Given the description of an element on the screen output the (x, y) to click on. 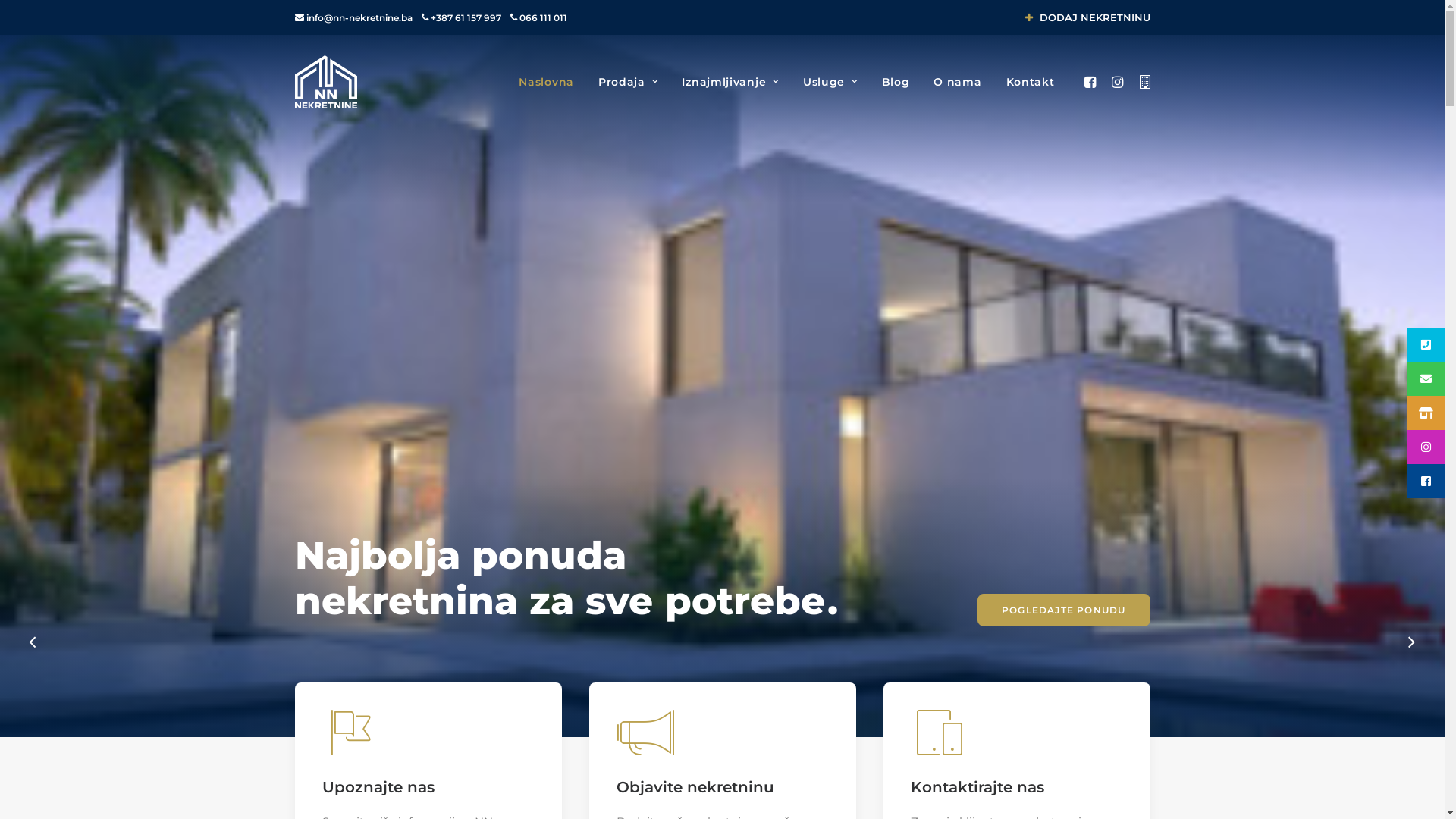
DODAJ NEKRETNINU Element type: text (1087, 17)
+387 61 157 997 Element type: text (465, 17)
Kontakt Element type: text (1024, 81)
Blog Element type: text (895, 81)
066 111 011 Element type: text (542, 17)
Iznajmljivanje Element type: text (729, 81)
Prodaja Element type: text (627, 81)
Naslovna Element type: text (546, 81)
O nama Element type: text (956, 81)
info@nn-nekretnine.ba Element type: text (359, 17)
Usluge Element type: text (830, 81)
